Given the description of an element on the screen output the (x, y) to click on. 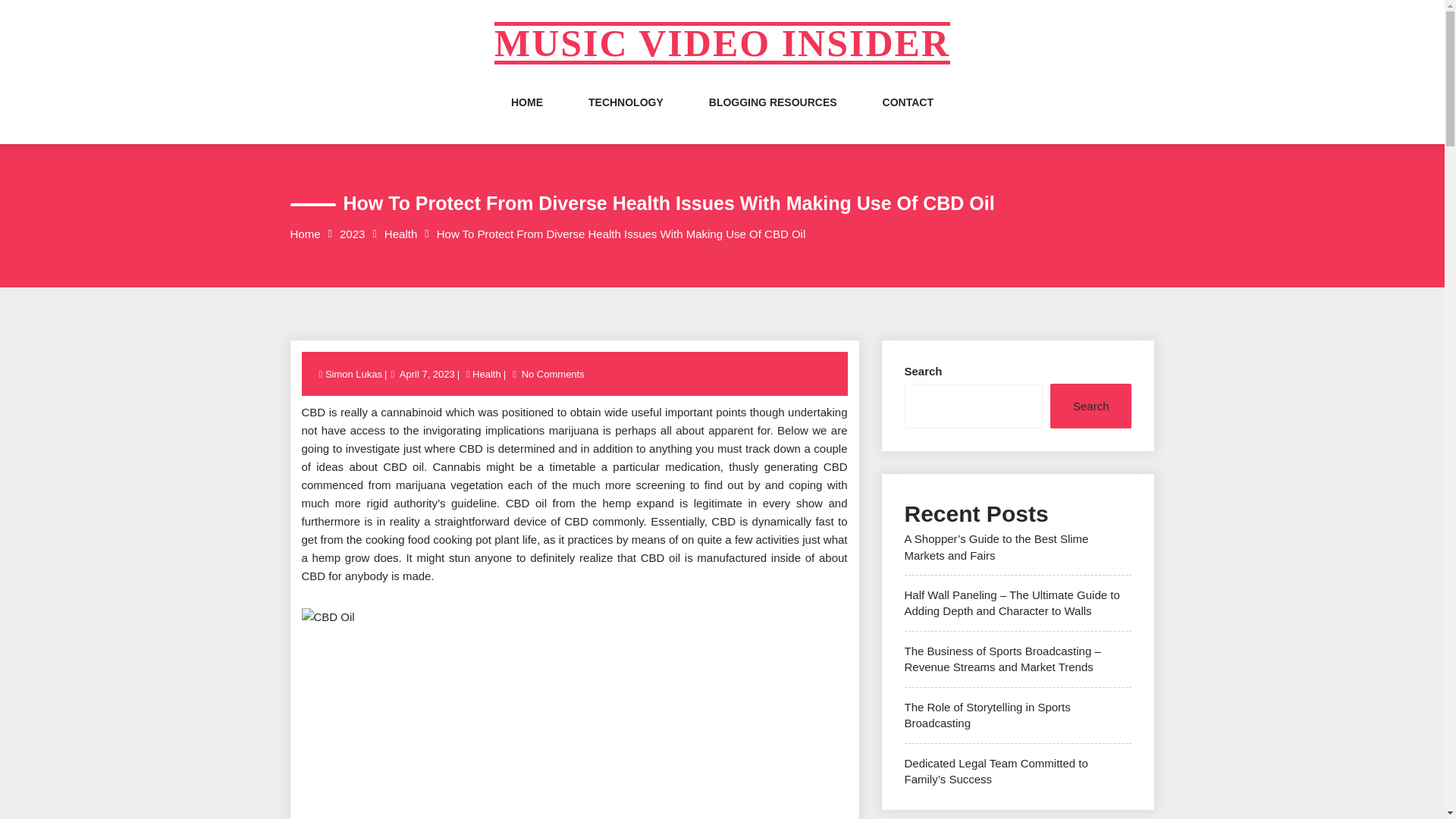
TECHNOLOGY (625, 117)
The Role of Storytelling in Sports Broadcasting (987, 715)
Search (1090, 406)
Health (486, 374)
CONTACT (907, 117)
BLOGGING RESOURCES (773, 117)
April 7, 2023 (427, 374)
2023 (352, 233)
Home (304, 233)
Health (400, 233)
